Given the description of an element on the screen output the (x, y) to click on. 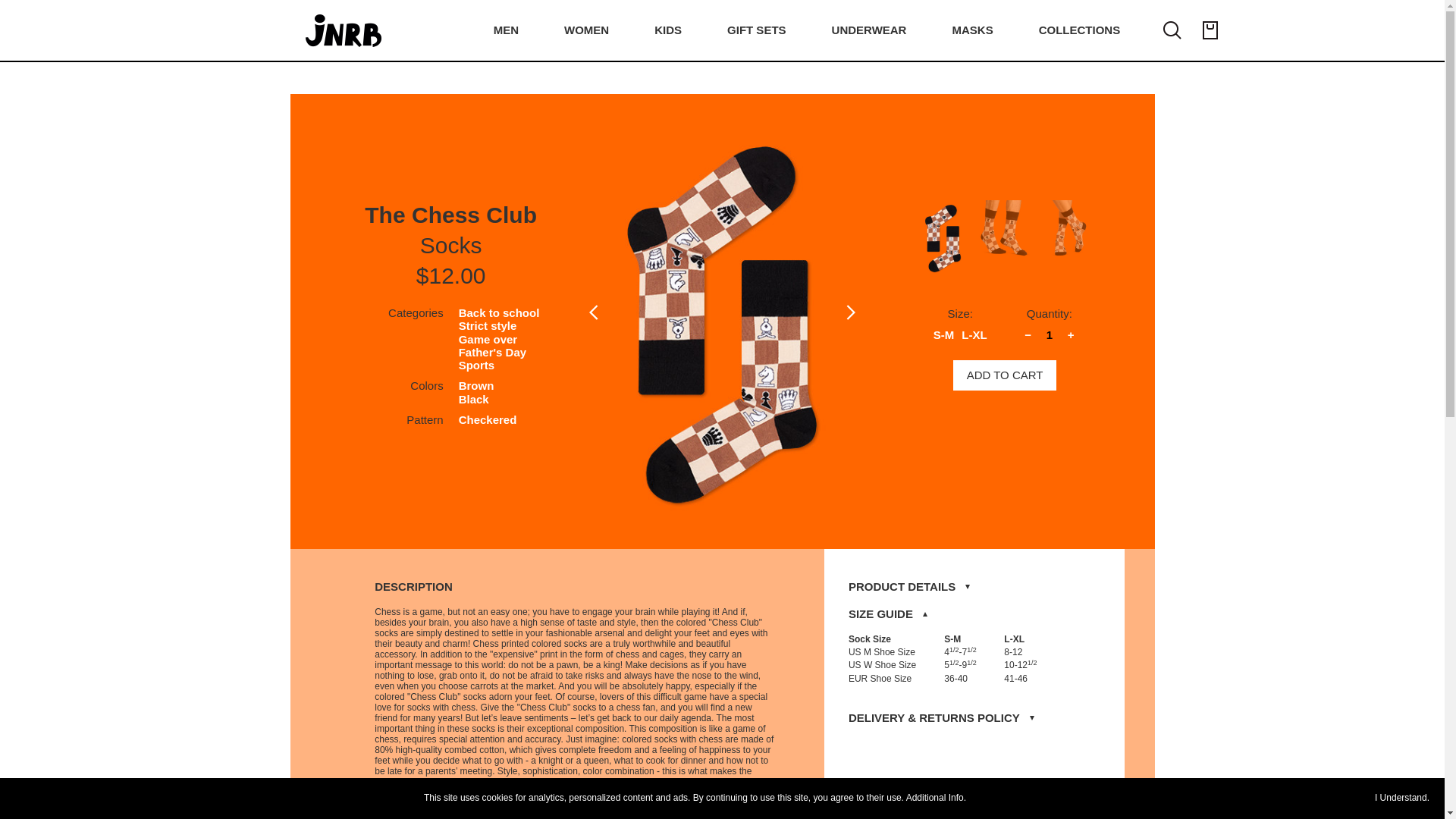
Father's Day (491, 351)
Back to school (499, 312)
MASKS (972, 29)
Sports (476, 364)
UNDERWEAR (869, 29)
GIFT SETS (756, 29)
Strict style (487, 325)
Game over (488, 338)
ADD TO CART (1005, 375)
